Given the description of an element on the screen output the (x, y) to click on. 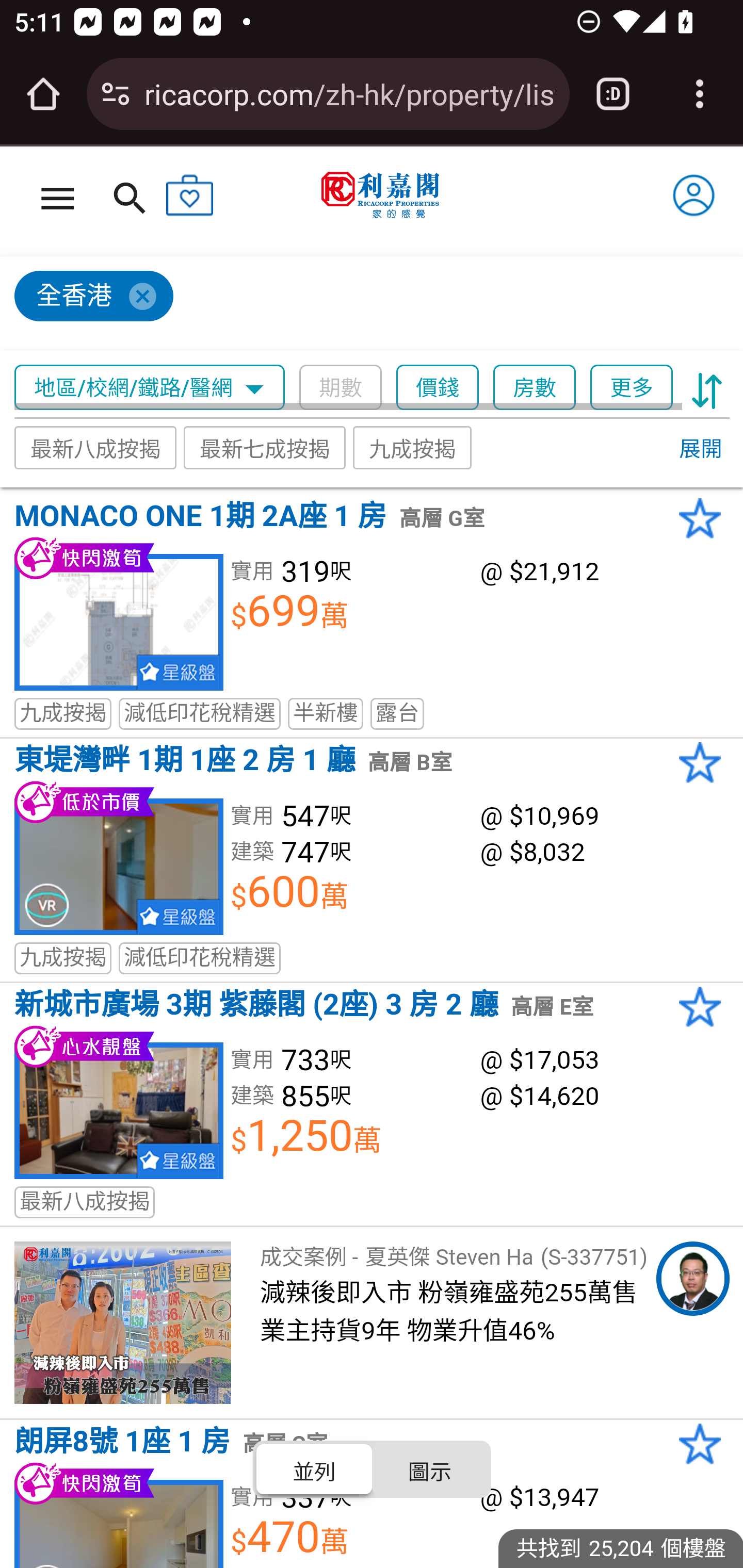
Open the home page (43, 93)
Connection is secure (115, 93)
Switch or close tabs (612, 93)
Customize and control Google Chrome (699, 93)
ricacorp.com/zh-hk/property/list/buy (349, 92)
全香港 (363, 304)
地區/校網/鐵路/醫網 (149, 387)
期數 (339, 387)
價錢 (437, 387)
房數 (535, 387)
更多 (630, 387)
sort (706, 387)
最新八成按揭 (96, 446)
最新七成按揭 (264, 446)
九成按揭 (412, 446)
並列 (314, 1468)
圖示 (429, 1468)
